Given the description of an element on the screen output the (x, y) to click on. 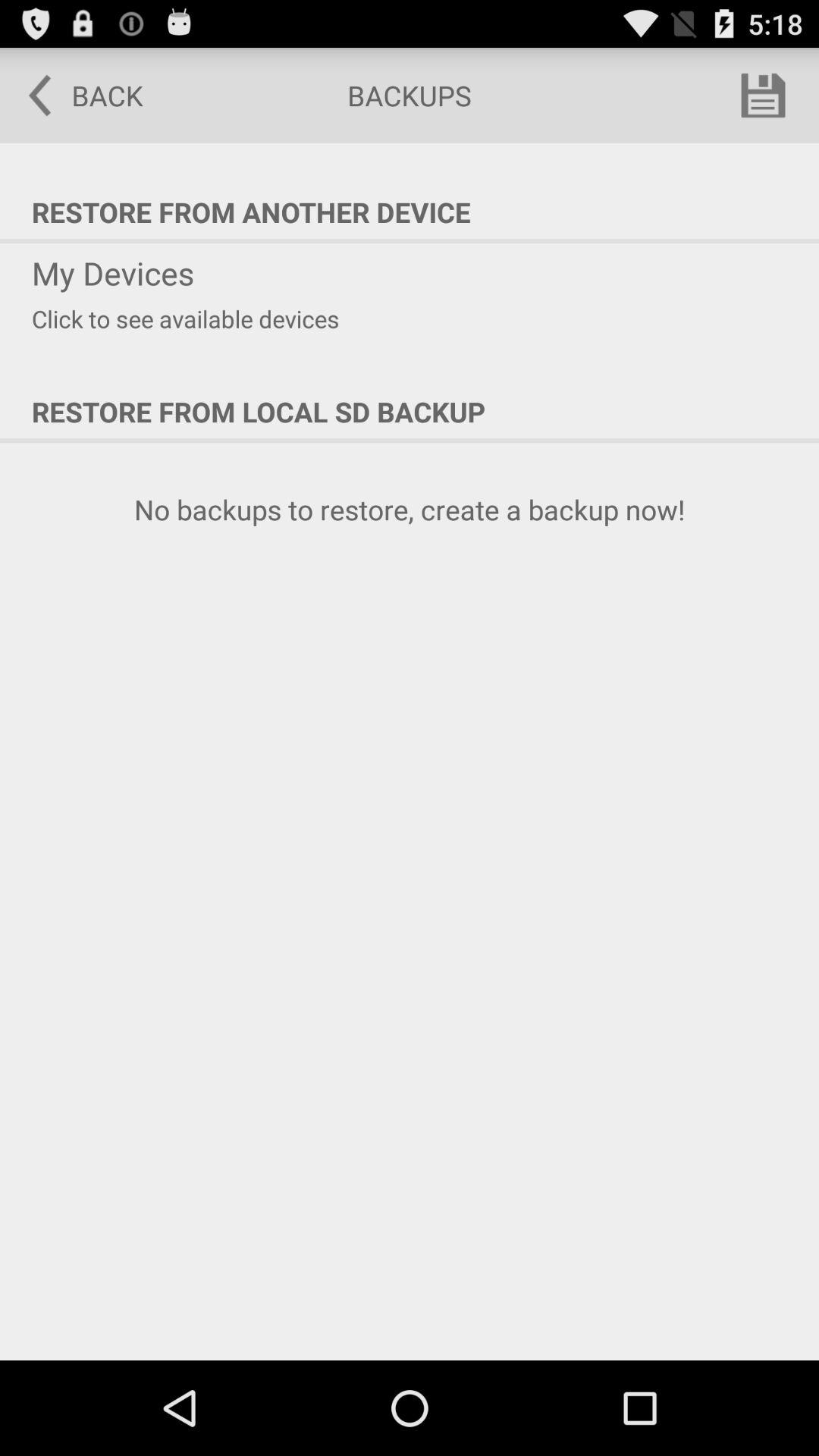
scroll to back (75, 95)
